Given the description of an element on the screen output the (x, y) to click on. 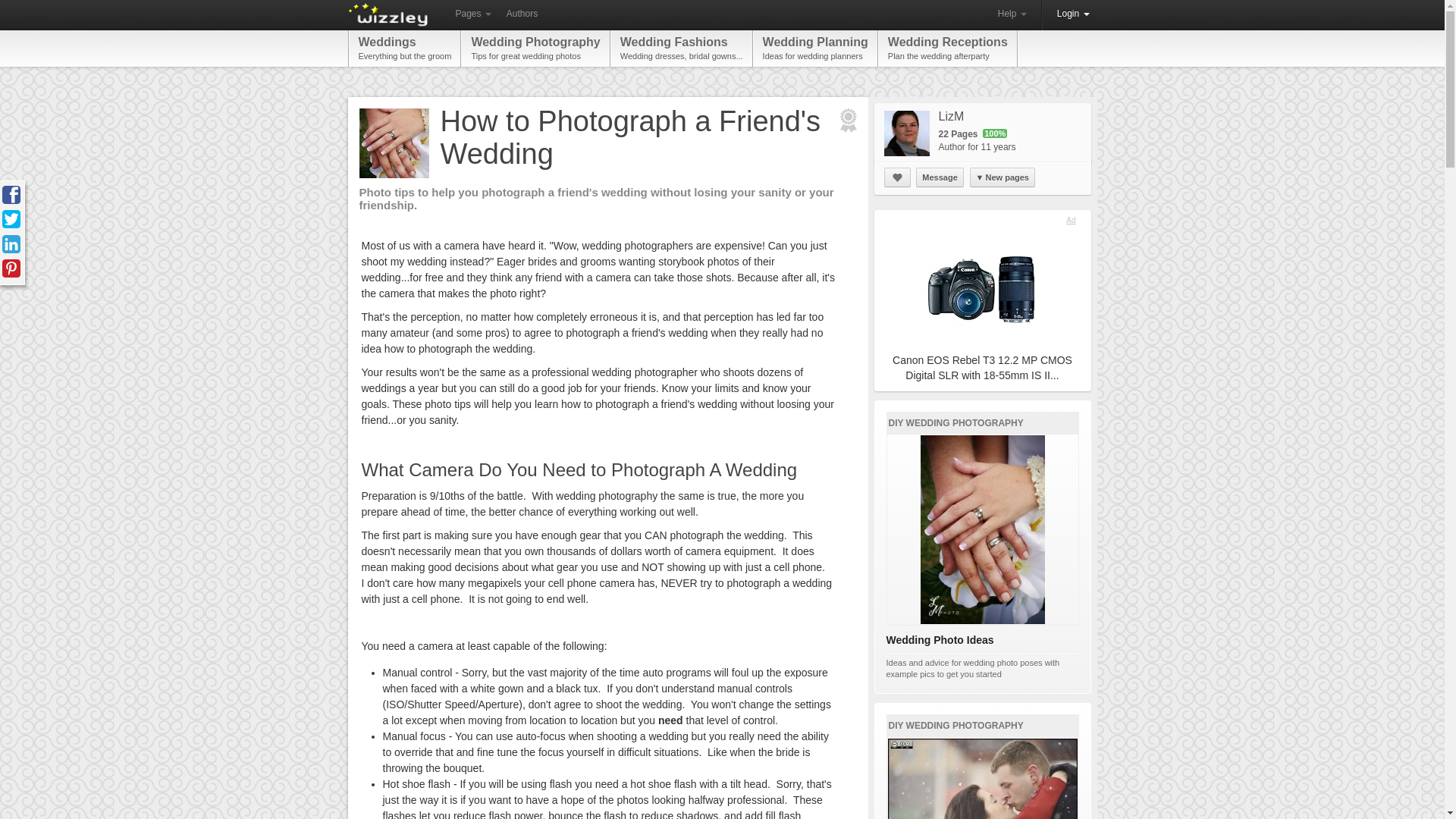
Editor's Choice (845, 120)
Help (1011, 14)
Follow (897, 177)
Login (947, 48)
Authors (405, 48)
Pages (1073, 14)
